Given the description of an element on the screen output the (x, y) to click on. 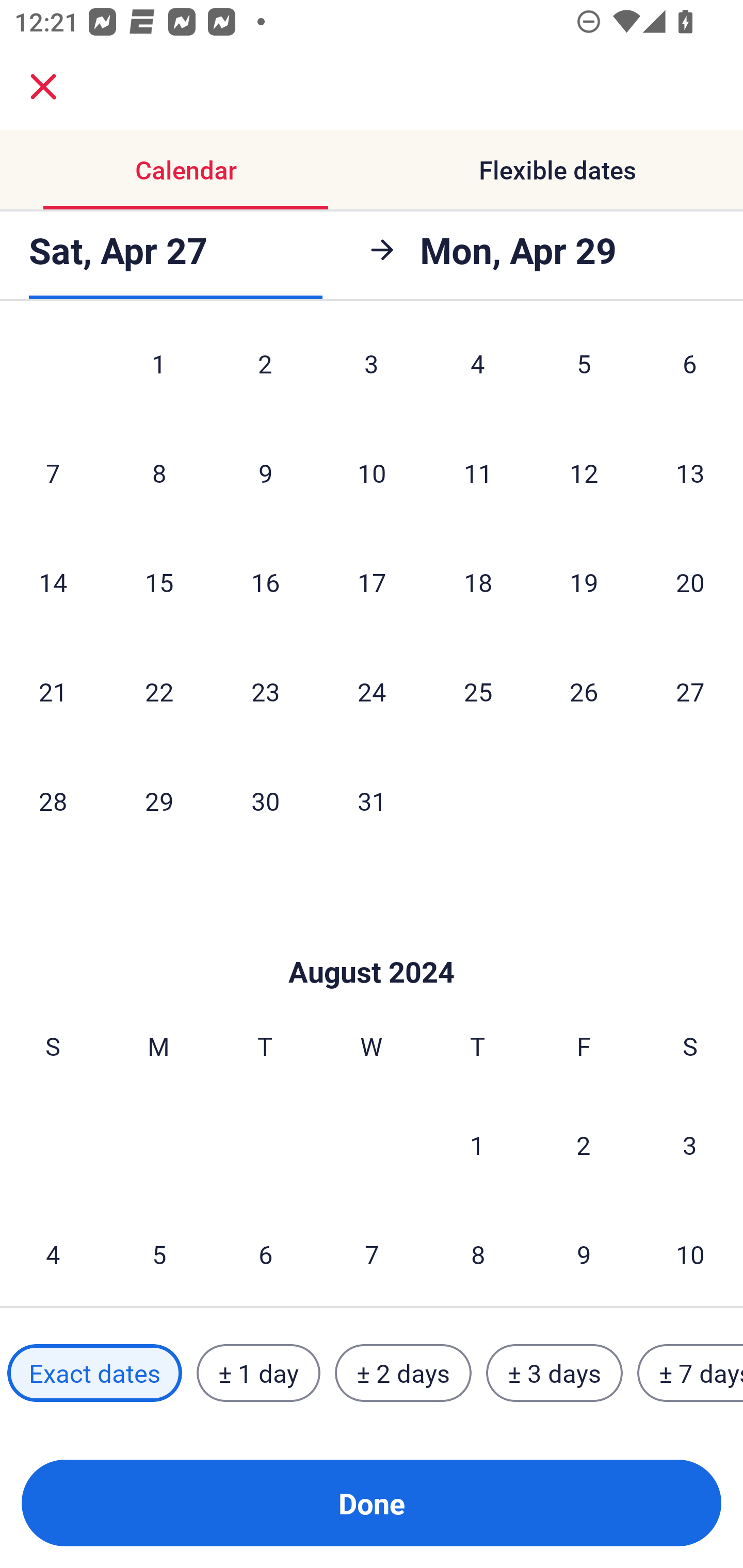
close. (43, 86)
Flexible dates (557, 170)
1 Monday, July 1, 2024 (158, 372)
2 Tuesday, July 2, 2024 (264, 372)
3 Wednesday, July 3, 2024 (371, 372)
4 Thursday, July 4, 2024 (477, 372)
5 Friday, July 5, 2024 (583, 372)
6 Saturday, July 6, 2024 (689, 372)
7 Sunday, July 7, 2024 (53, 472)
8 Monday, July 8, 2024 (159, 472)
9 Tuesday, July 9, 2024 (265, 472)
10 Wednesday, July 10, 2024 (371, 472)
11 Thursday, July 11, 2024 (477, 472)
12 Friday, July 12, 2024 (584, 472)
13 Saturday, July 13, 2024 (690, 472)
14 Sunday, July 14, 2024 (53, 582)
15 Monday, July 15, 2024 (159, 582)
16 Tuesday, July 16, 2024 (265, 582)
17 Wednesday, July 17, 2024 (371, 582)
18 Thursday, July 18, 2024 (477, 582)
19 Friday, July 19, 2024 (584, 582)
20 Saturday, July 20, 2024 (690, 582)
21 Sunday, July 21, 2024 (53, 691)
22 Monday, July 22, 2024 (159, 691)
23 Tuesday, July 23, 2024 (265, 691)
24 Wednesday, July 24, 2024 (371, 691)
25 Thursday, July 25, 2024 (477, 691)
26 Friday, July 26, 2024 (584, 691)
27 Saturday, July 27, 2024 (690, 691)
28 Sunday, July 28, 2024 (53, 799)
29 Monday, July 29, 2024 (159, 799)
30 Tuesday, July 30, 2024 (265, 799)
31 Wednesday, July 31, 2024 (371, 799)
Skip to Done (371, 941)
1 Thursday, August 1, 2024 (477, 1144)
2 Friday, August 2, 2024 (583, 1144)
3 Saturday, August 3, 2024 (689, 1144)
4 Sunday, August 4, 2024 (53, 1253)
5 Monday, August 5, 2024 (159, 1253)
6 Tuesday, August 6, 2024 (265, 1253)
7 Wednesday, August 7, 2024 (371, 1253)
8 Thursday, August 8, 2024 (477, 1253)
9 Friday, August 9, 2024 (584, 1253)
10 Saturday, August 10, 2024 (690, 1253)
Exact dates (94, 1372)
± 1 day (258, 1372)
± 2 days (403, 1372)
± 3 days (553, 1372)
± 7 days (690, 1372)
Done (371, 1502)
